Given the description of an element on the screen output the (x, y) to click on. 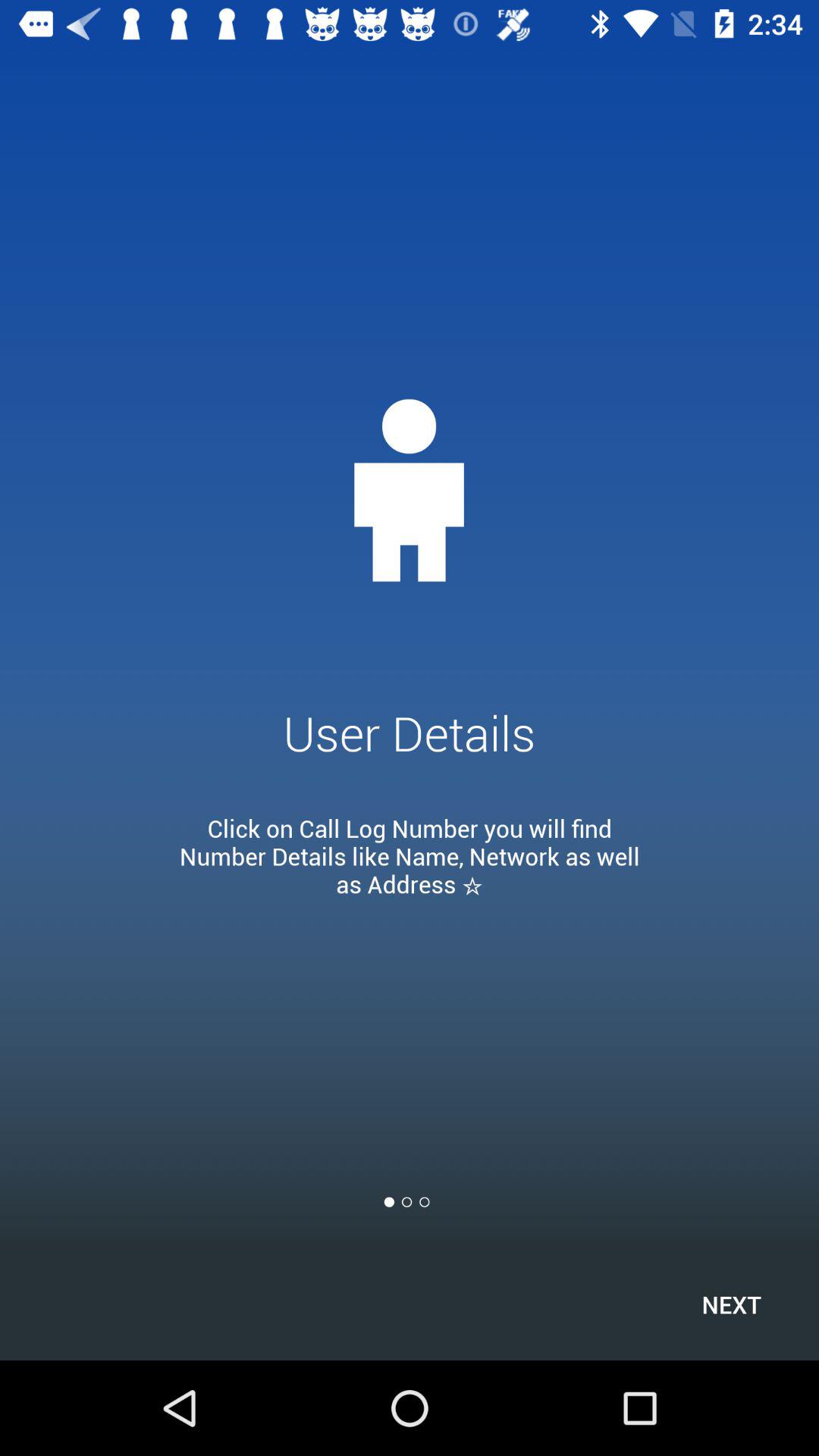
jump to next (731, 1304)
